Given the description of an element on the screen output the (x, y) to click on. 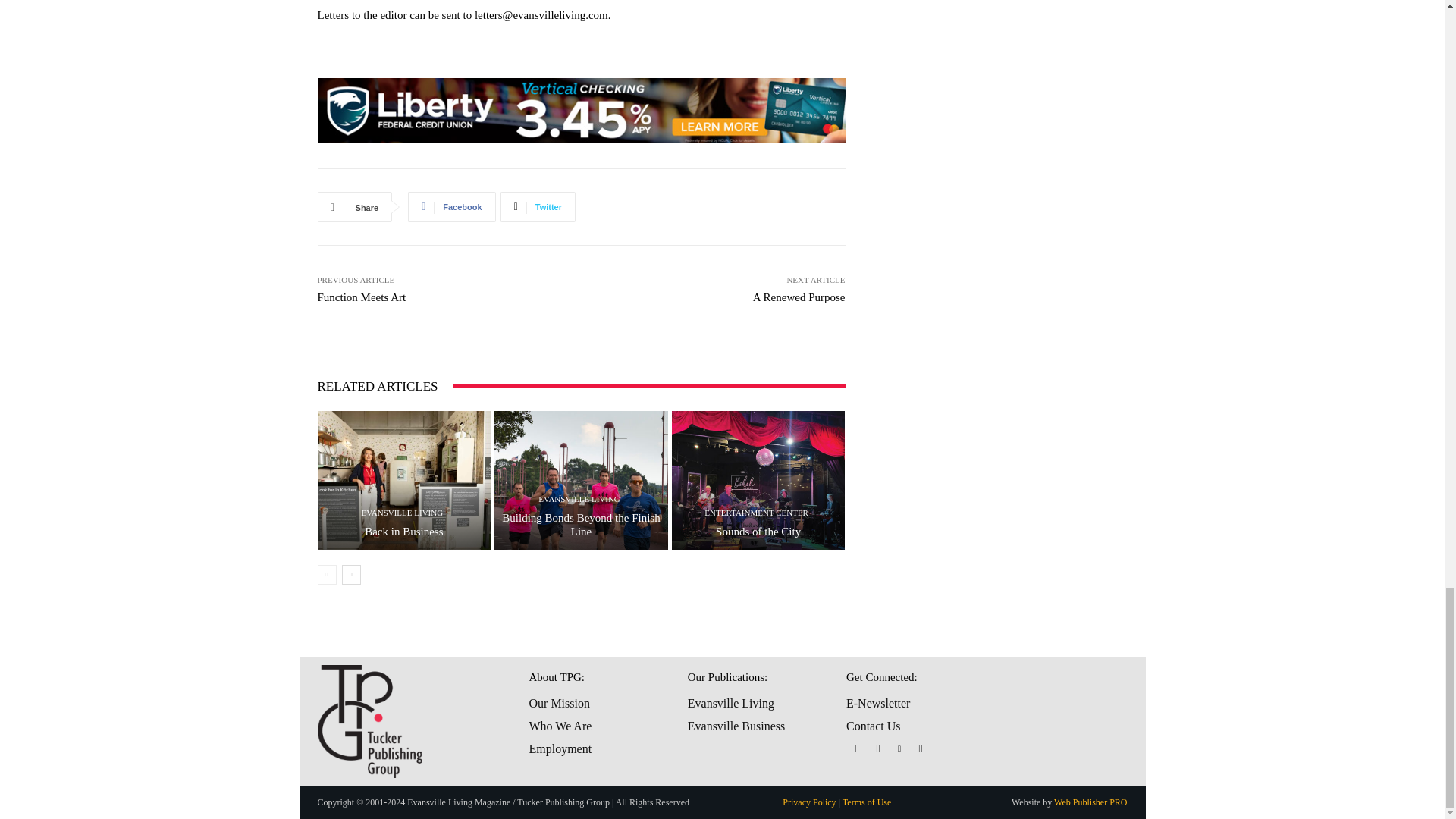
Virtual Checking - 728x90 (580, 110)
